Given the description of an element on the screen output the (x, y) to click on. 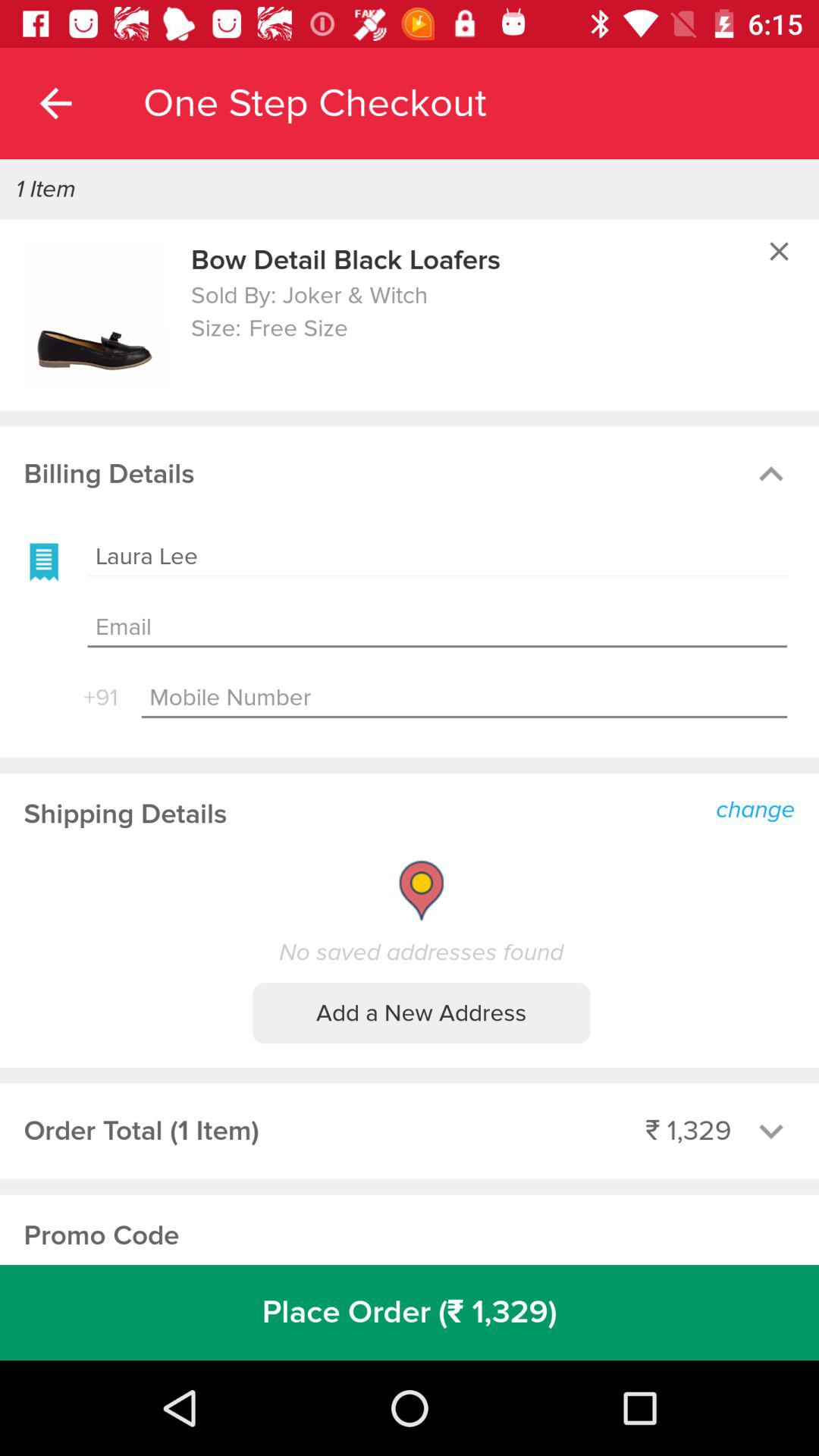
choose change on the right (759, 807)
